Given the description of an element on the screen output the (x, y) to click on. 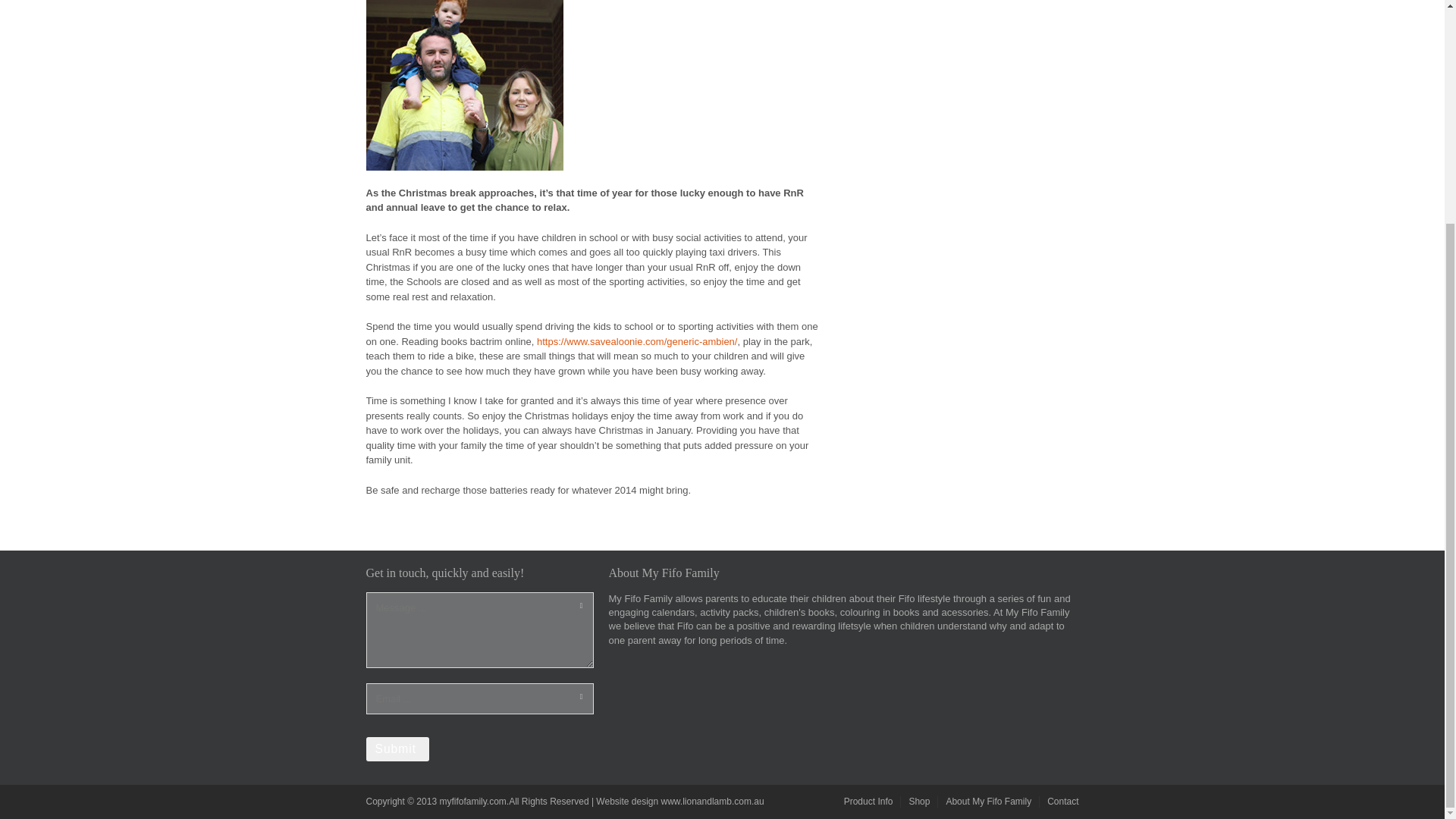
About My Fifo Family (987, 801)
Shop (919, 801)
Product Info (868, 801)
www.lionandlamb.com.au (712, 801)
Submit (397, 749)
Contact (1062, 801)
Submit (397, 749)
bactrim online (500, 340)
